Given the description of an element on the screen output the (x, y) to click on. 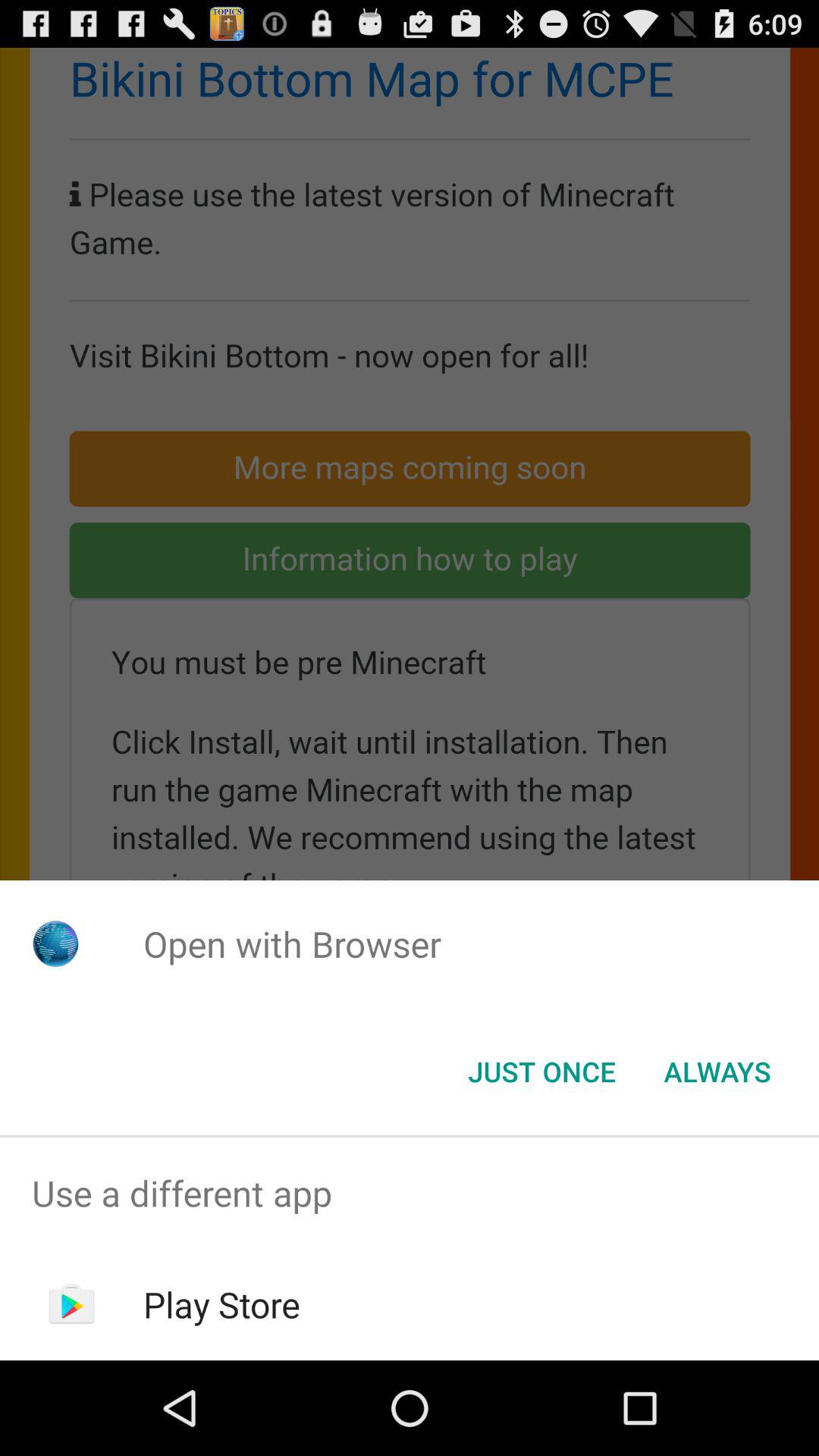
open the always button (717, 1071)
